Given the description of an element on the screen output the (x, y) to click on. 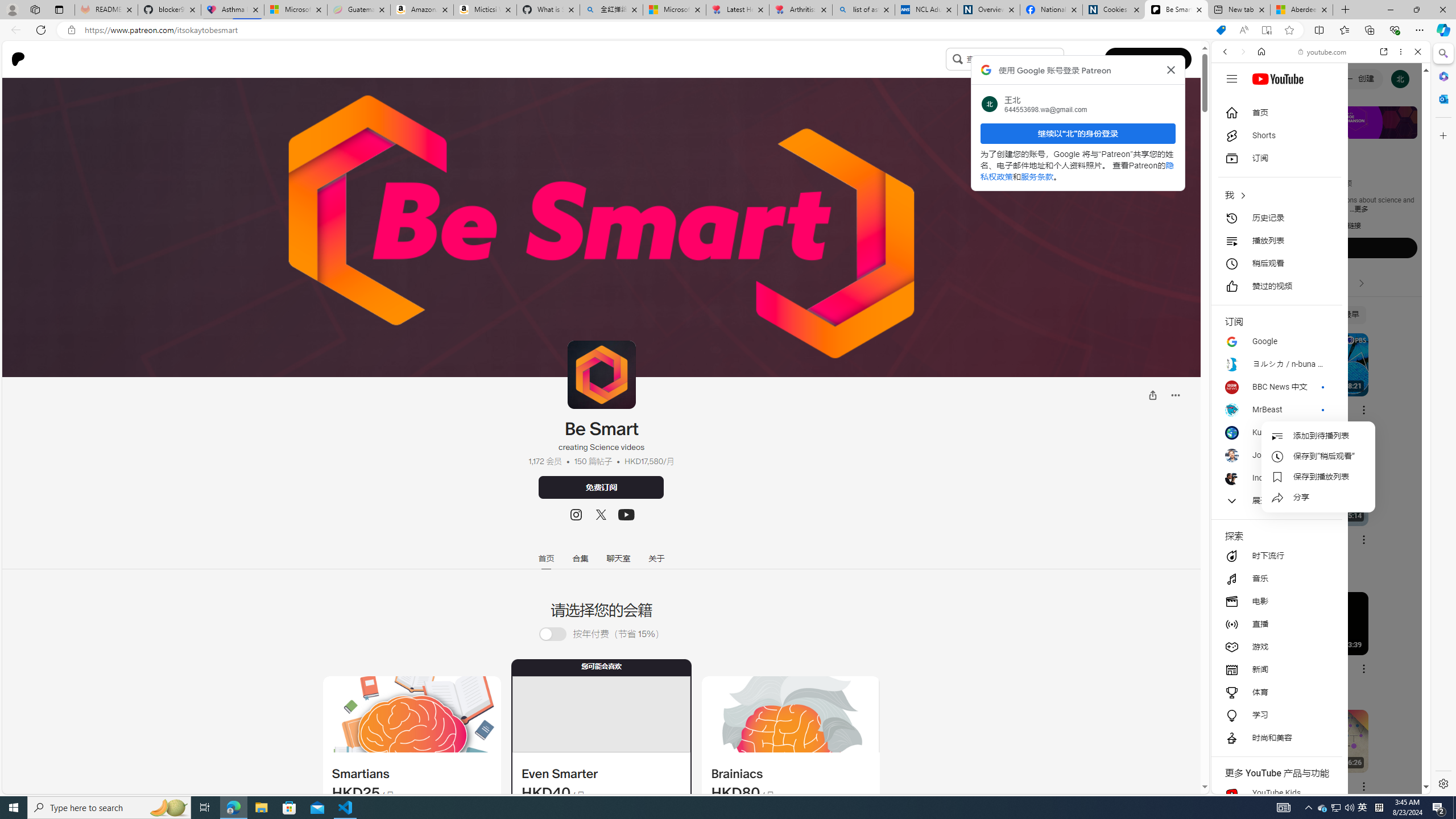
WEB   (1230, 130)
Indigo Traveller (1275, 477)
IMAGES (1262, 130)
To get missing image descriptions, open the context menu. (410, 713)
Open link in new tab (1383, 51)
Search Filter, VIDEOS (1300, 129)
